Given the description of an element on the screen output the (x, y) to click on. 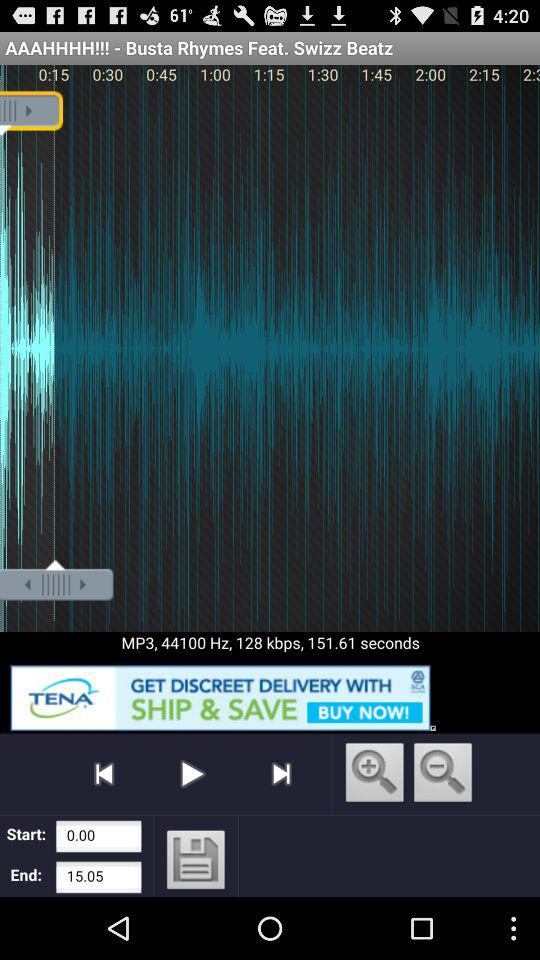
open link to advertisement (270, 693)
